Given the description of an element on the screen output the (x, y) to click on. 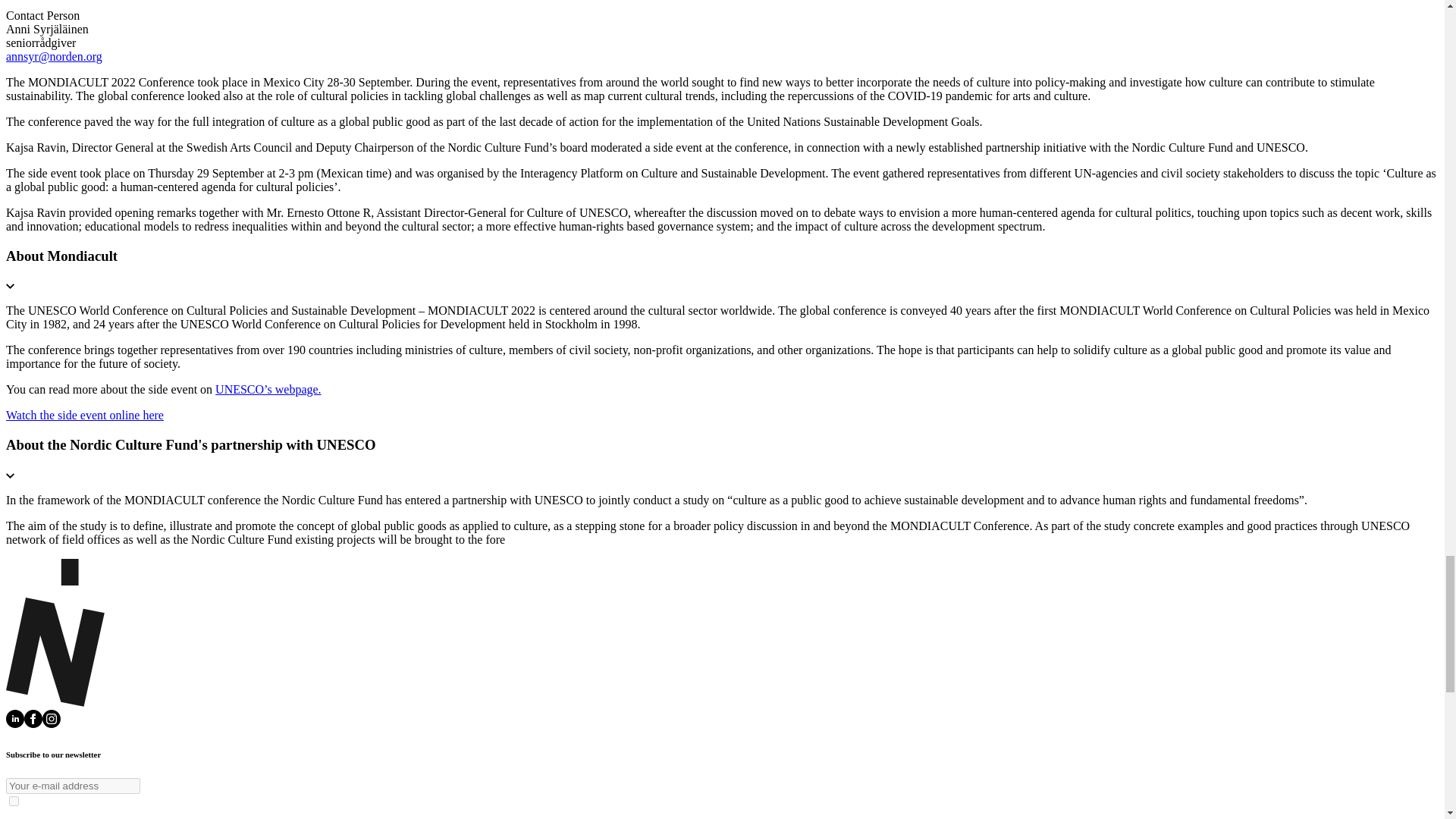
on (13, 800)
Facebook logo (33, 719)
Instagram logo (51, 719)
Dropdown icon (9, 284)
Dropdown icon (9, 474)
Watch the side event online here (84, 414)
Facebook logo (33, 723)
LinkedIn logo (14, 723)
Instagram logo (51, 723)
LinkedIn logo (14, 719)
